Given the description of an element on the screen output the (x, y) to click on. 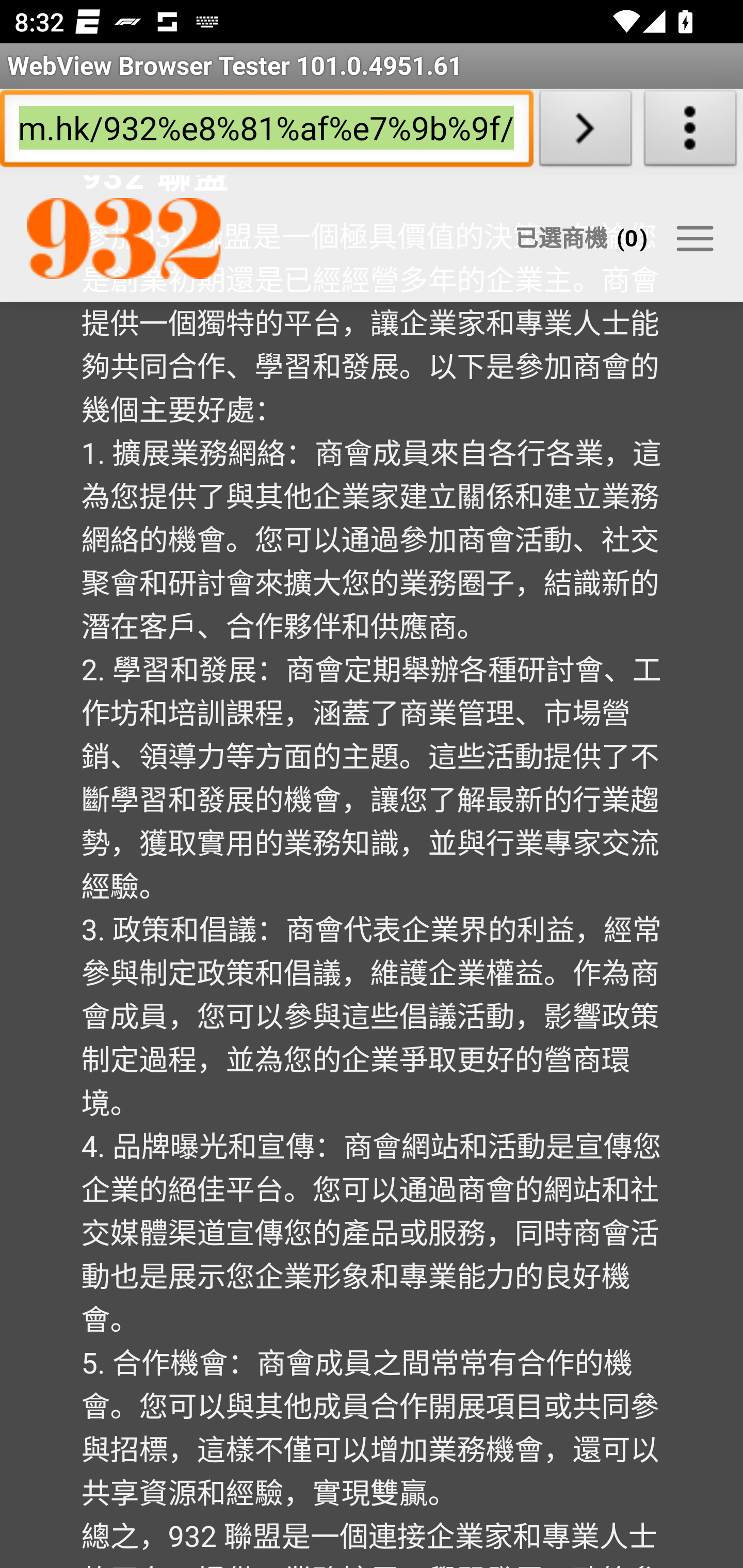
https://932.com.hk/932%e8%81%af%e7%9b%9f/ (266, 132)
Load URL (585, 132)
About WebView (690, 132)
